Given the description of an element on the screen output the (x, y) to click on. 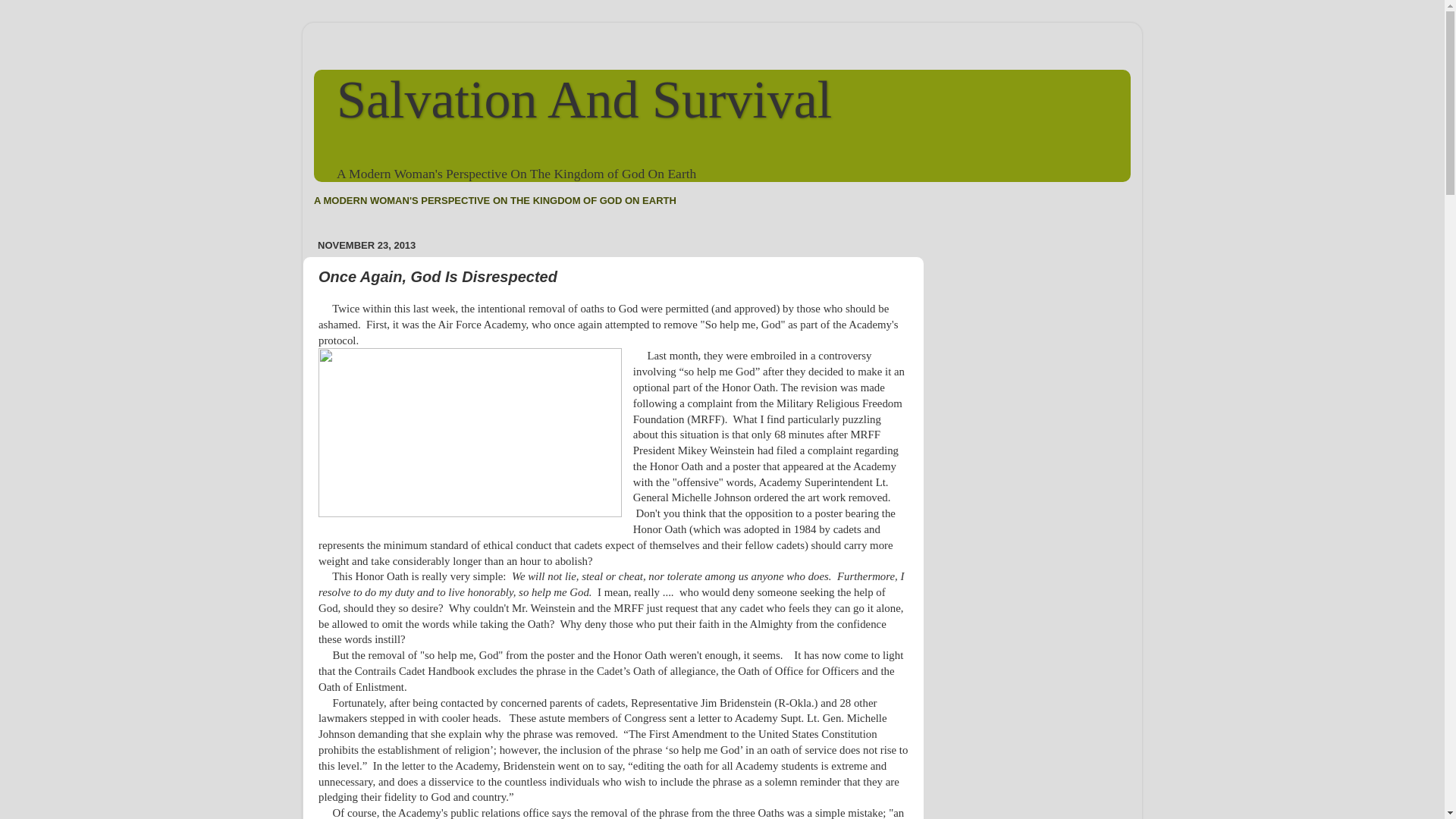
Salvation And Survival (583, 99)
